Given the description of an element on the screen output the (x, y) to click on. 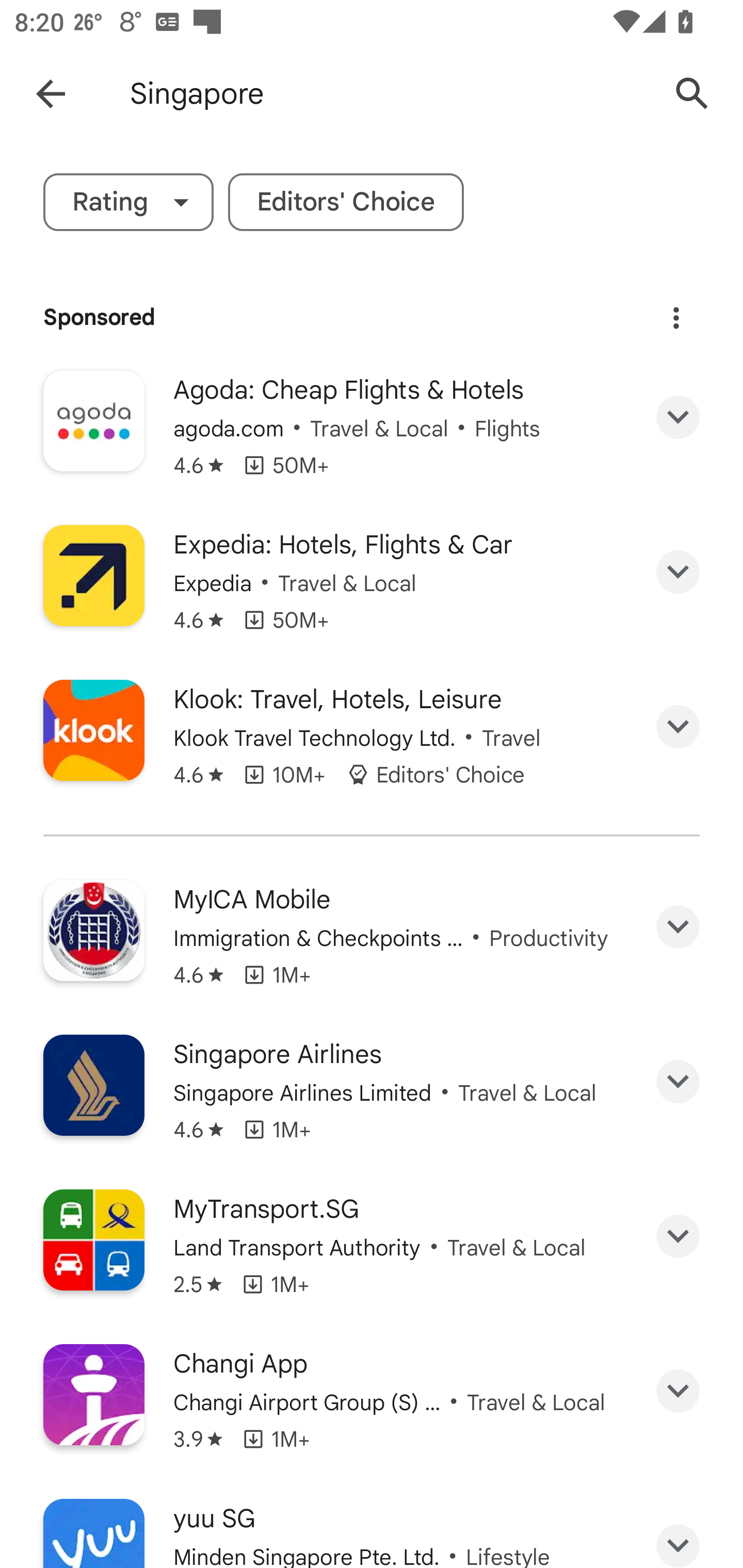
Singapore (389, 93)
Navigate up (50, 93)
Search Google Play (692, 93)
Rating - double tap to change the filter (128, 202)
Editors' Choice - double tap to toggle the filter (345, 202)
About this ad (676, 318)
Expand content for Agoda: Cheap Flights & Hotels (677, 416)
Expand content for Expedia: Hotels, Flights & Car (677, 571)
Expand content for Klook: Travel, Hotels, Leisure (677, 726)
Expand content for MyICA Mobile (677, 926)
Expand content for Singapore Airlines (677, 1081)
Expand content for MyTransport.SG (677, 1236)
Expand content for Changi App (677, 1391)
Expand content for yuu SG (677, 1535)
